Given the description of an element on the screen output the (x, y) to click on. 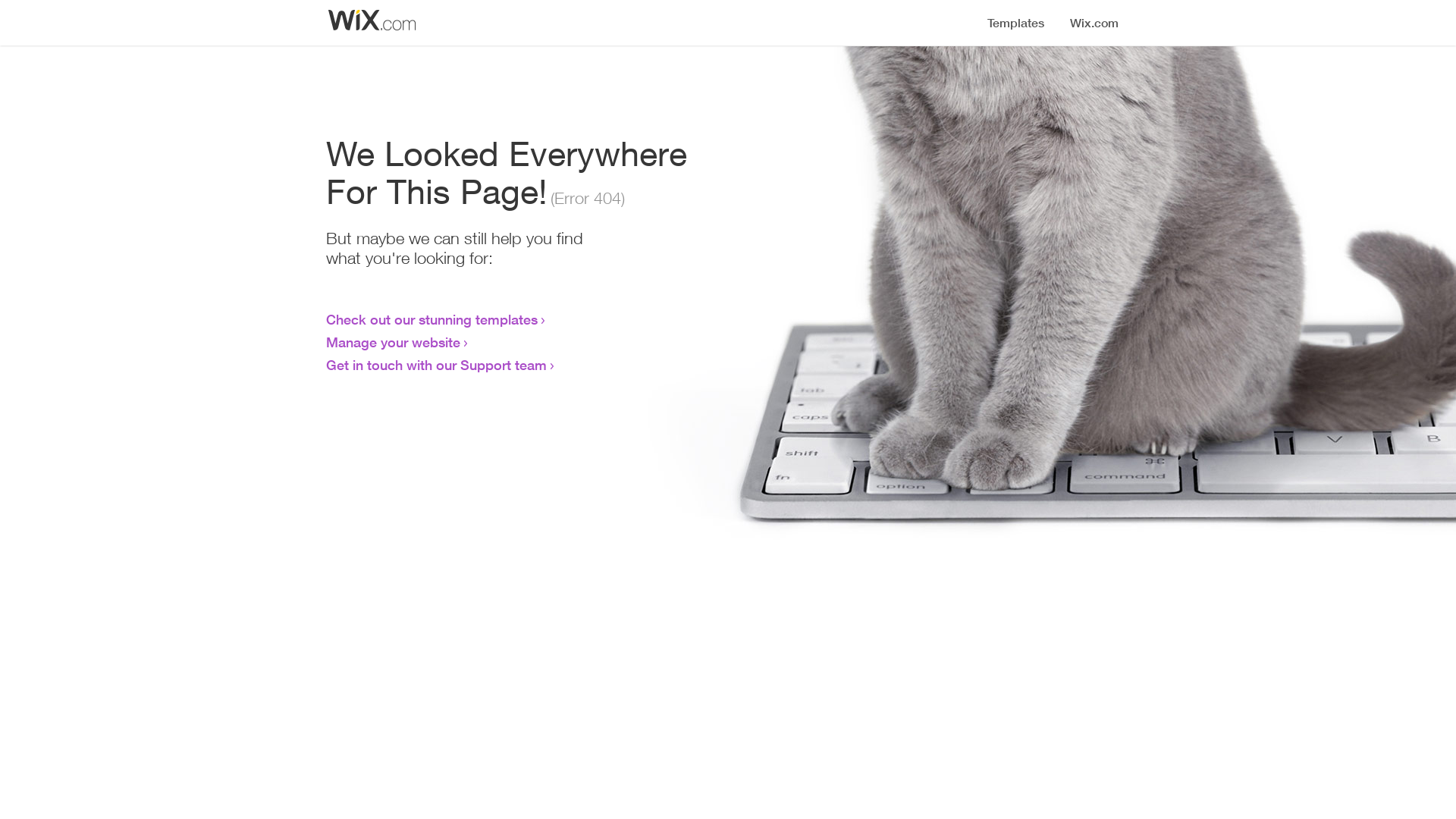
Get in touch with our Support team Element type: text (436, 364)
Manage your website Element type: text (393, 341)
Check out our stunning templates Element type: text (431, 318)
